Given the description of an element on the screen output the (x, y) to click on. 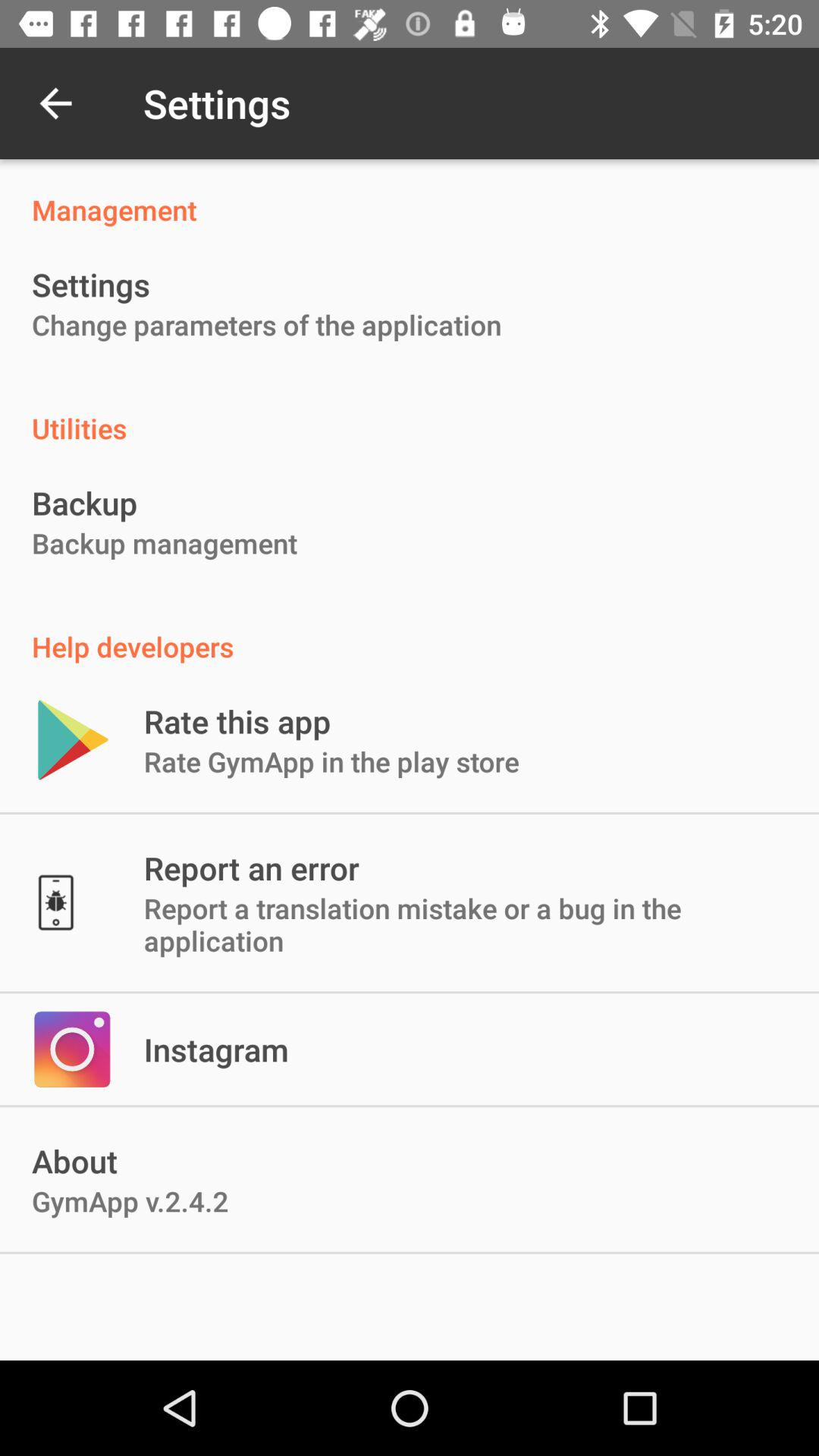
select backup management item (164, 542)
